Given the description of an element on the screen output the (x, y) to click on. 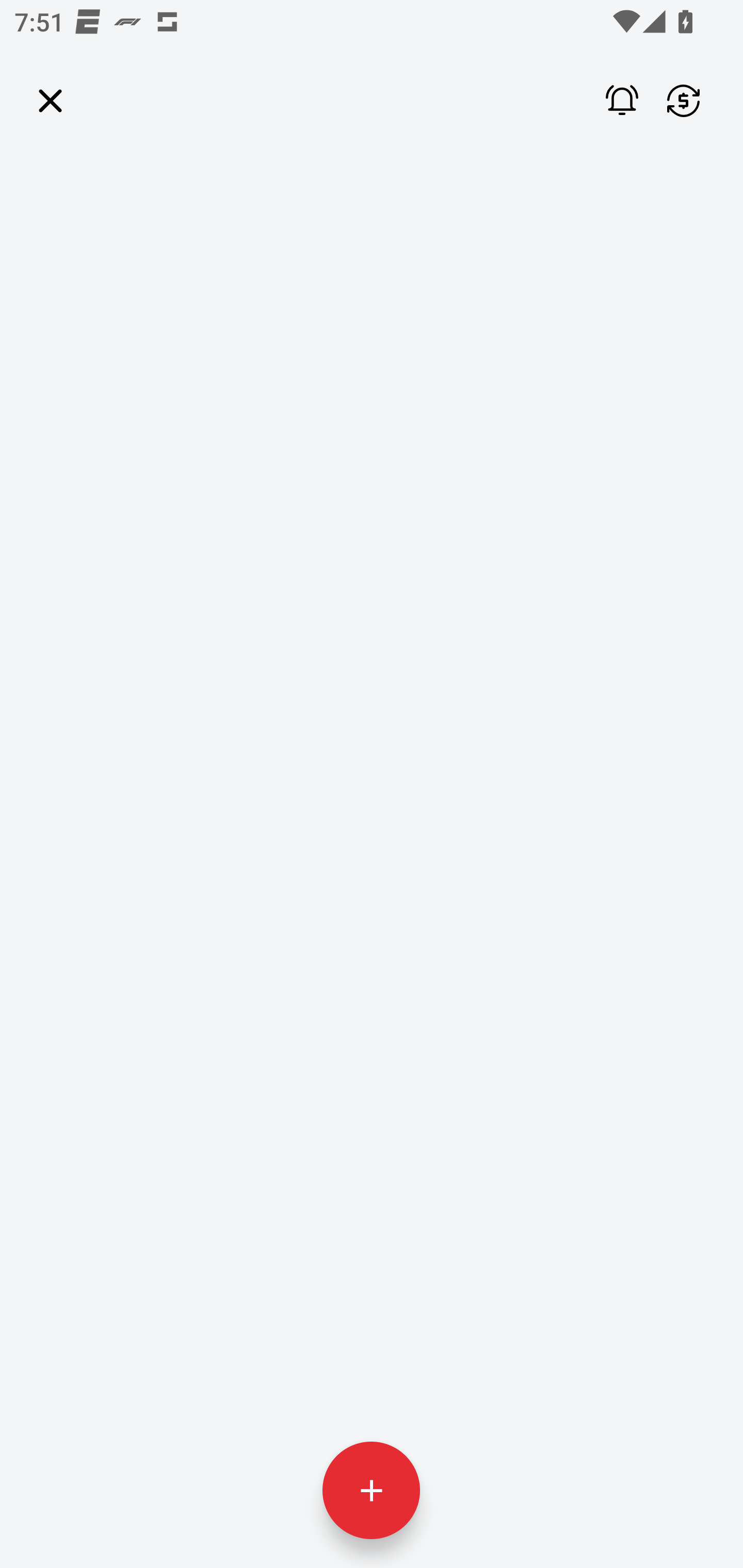
Leading Icon (50, 101)
Notification Settings (609, 101)
Finance Widget Settings (683, 101)
Add Currencies (370, 1489)
